Given the description of an element on the screen output the (x, y) to click on. 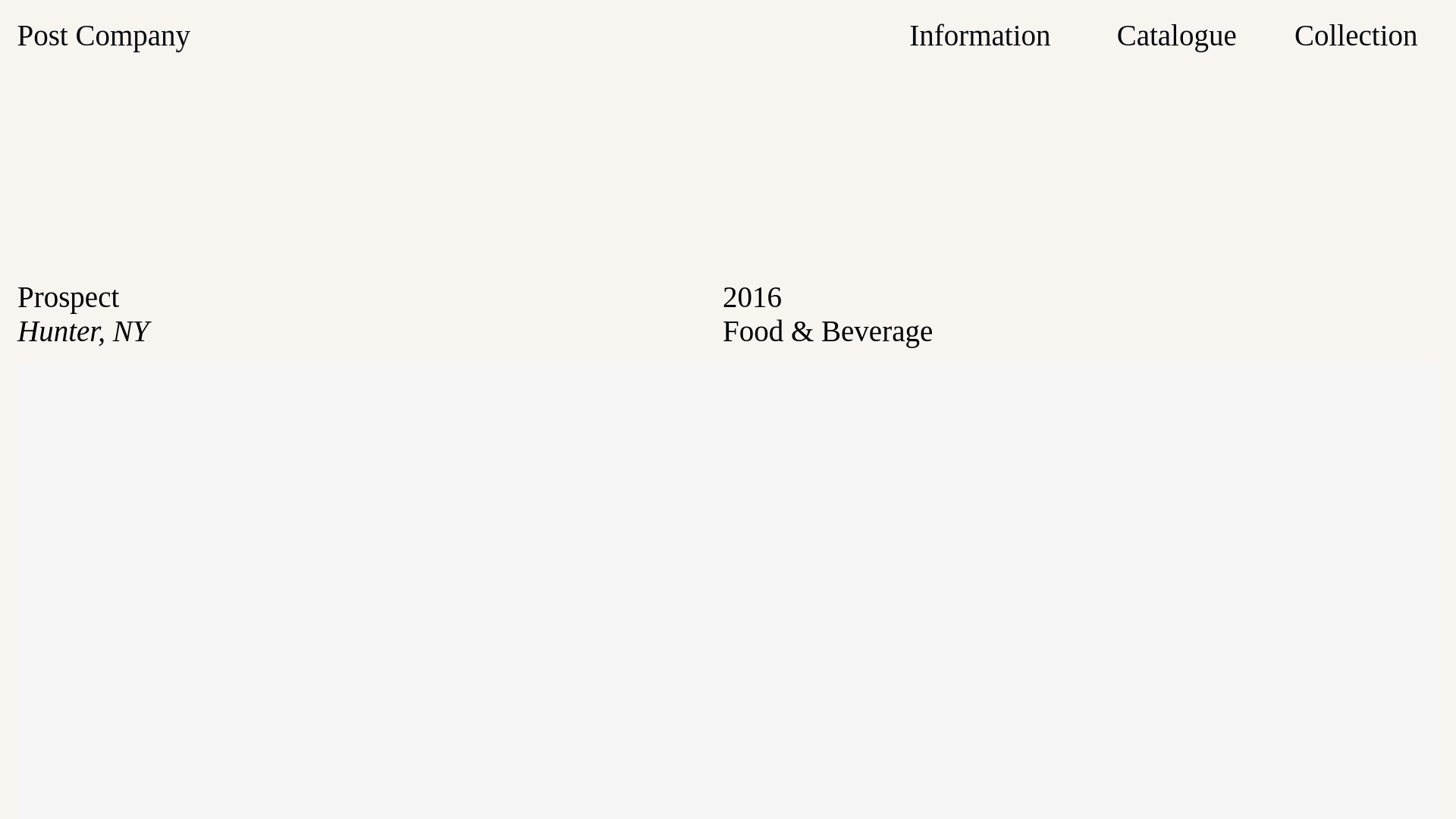
Information (978, 34)
Catalogue (1176, 34)
Post Company (103, 35)
Collection (1355, 34)
